Given the description of an element on the screen output the (x, y) to click on. 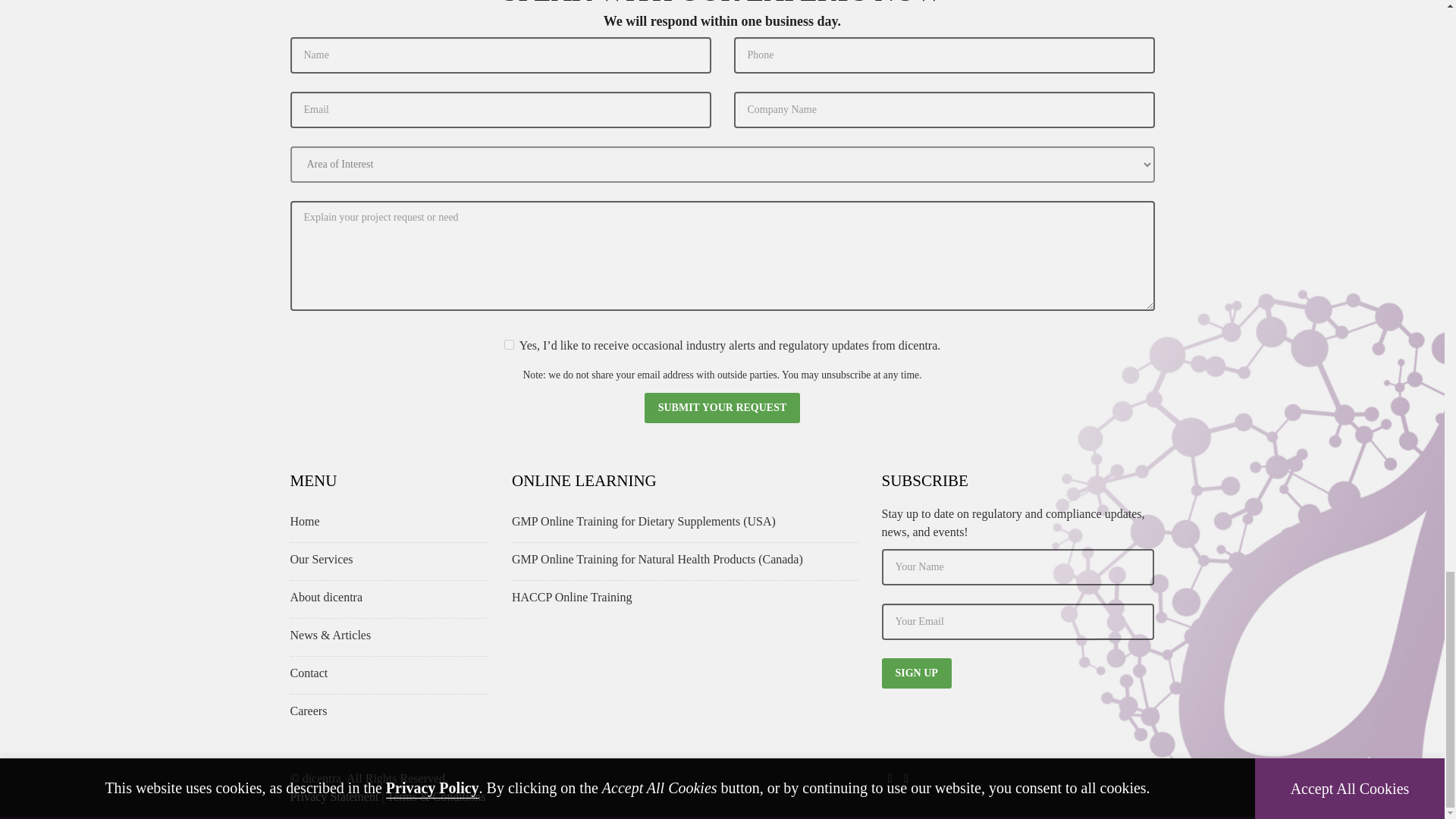
Sign Up (915, 673)
SUBMIT YOUR REQUEST (722, 408)
